Given the description of an element on the screen output the (x, y) to click on. 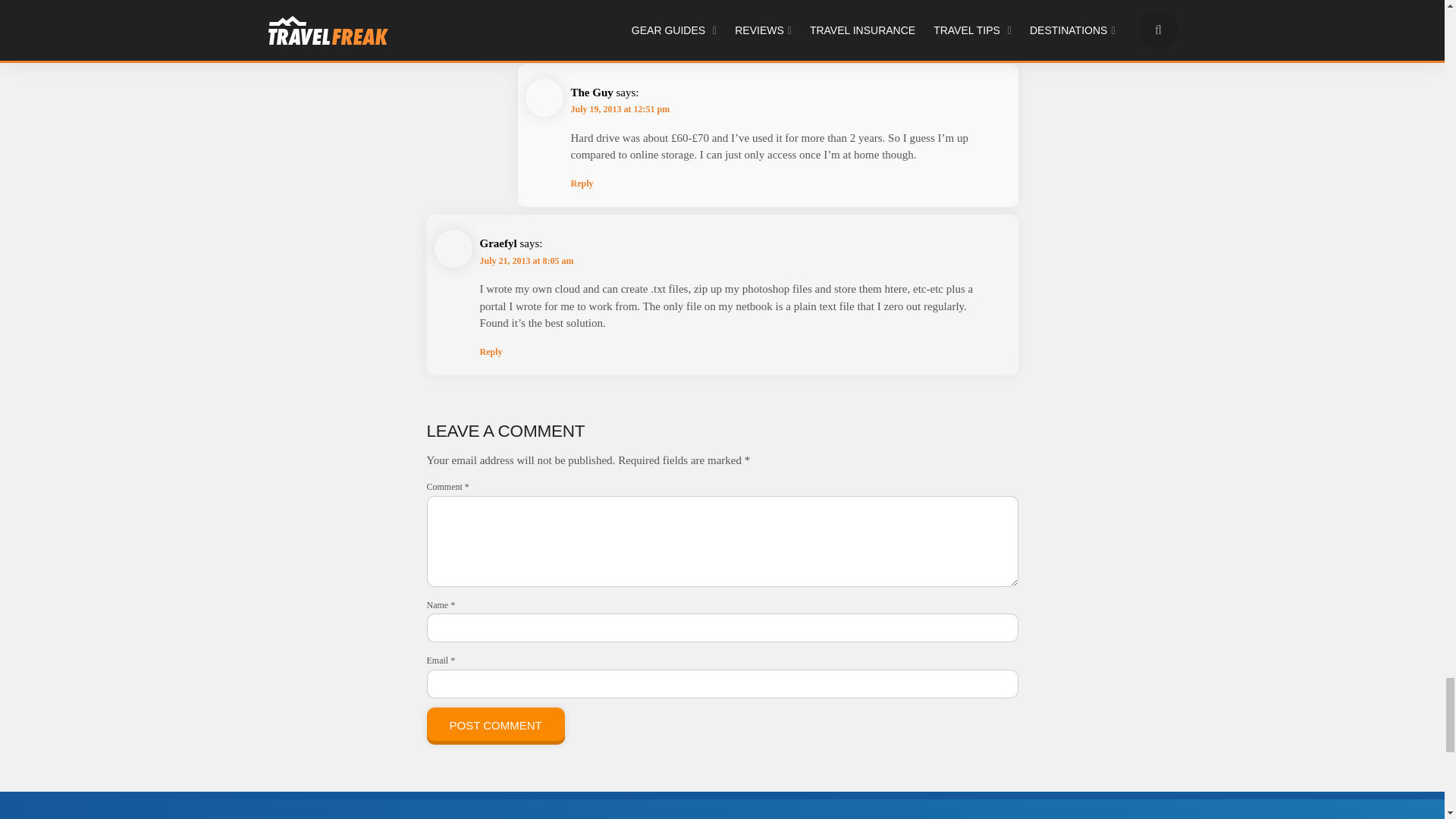
Post Comment (495, 725)
